Given the description of an element on the screen output the (x, y) to click on. 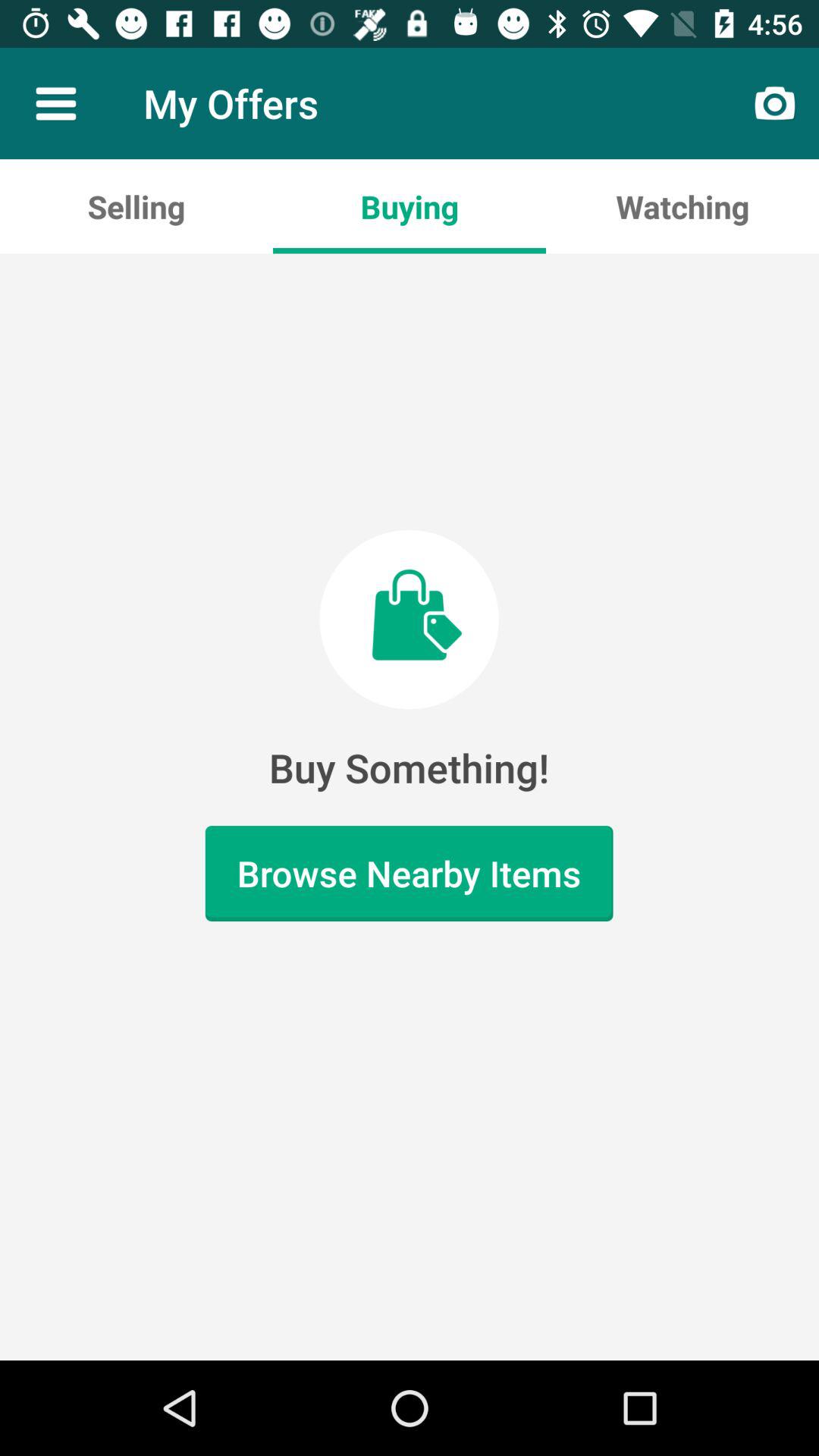
turn off the app next to the selling item (409, 206)
